Given the description of an element on the screen output the (x, y) to click on. 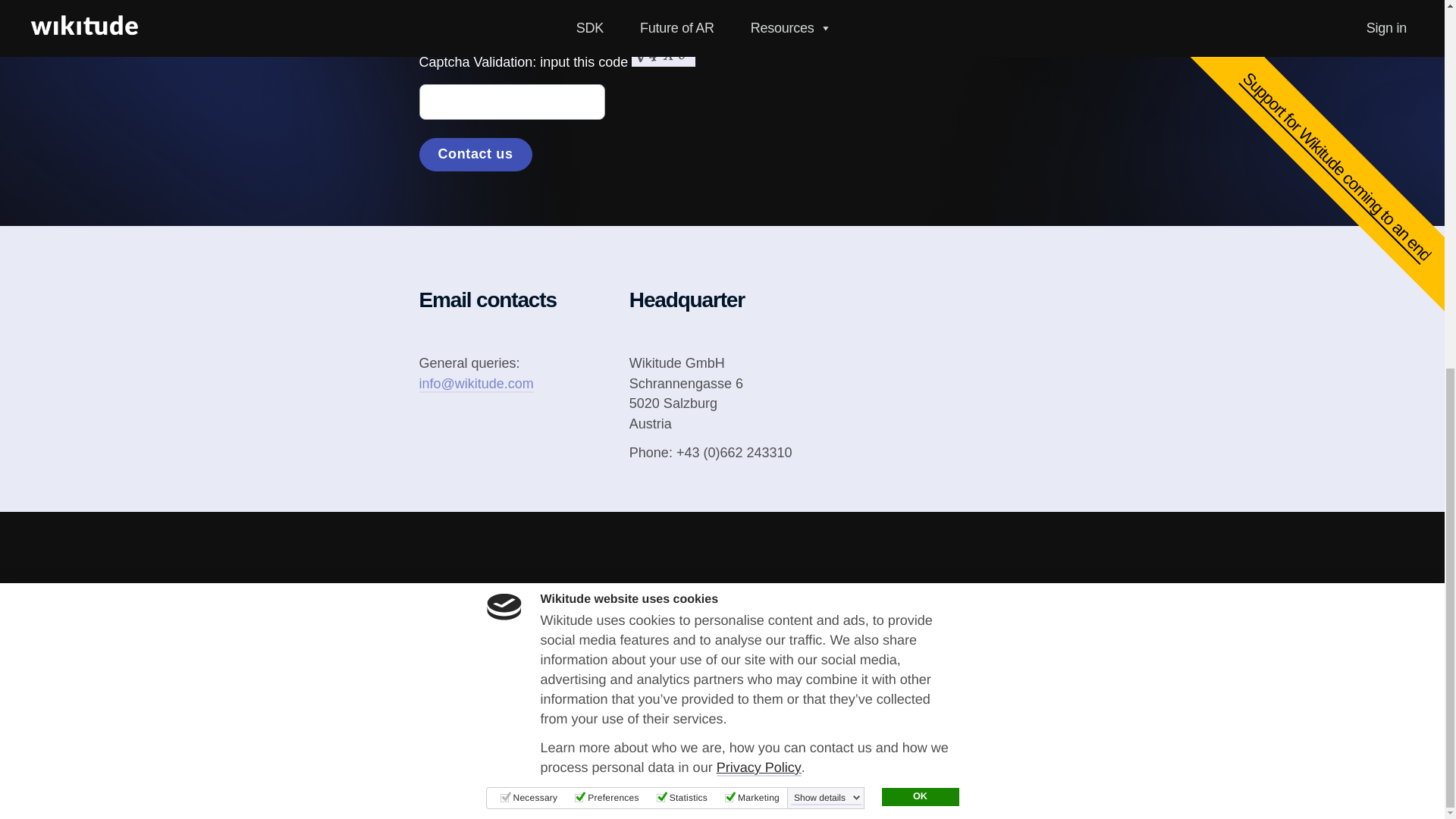
Privacy Policy (759, 102)
Contact us (475, 154)
Show details (826, 132)
OK (919, 131)
